Given the description of an element on the screen output the (x, y) to click on. 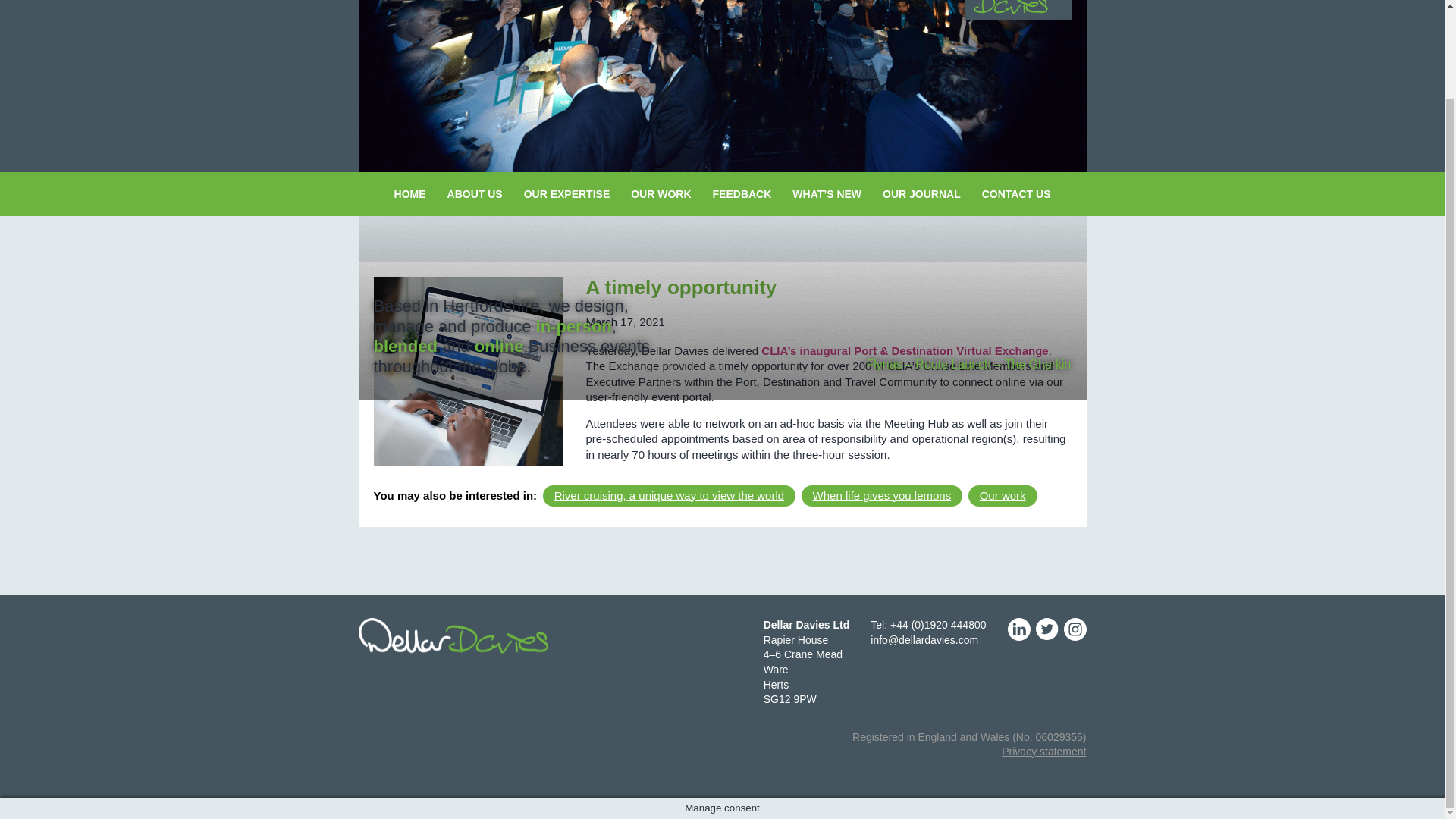
When life gives you lemons (882, 495)
OUR JOURNAL (921, 193)
flynas-gherkin (722, 85)
HOME (410, 193)
ABOUT US (474, 193)
FEEDBACK (742, 193)
Privacy statement (1043, 751)
CONTACT US (1016, 193)
OUR EXPERTISE (567, 193)
River cruising, a unique way to view the world (669, 495)
